Given the description of an element on the screen output the (x, y) to click on. 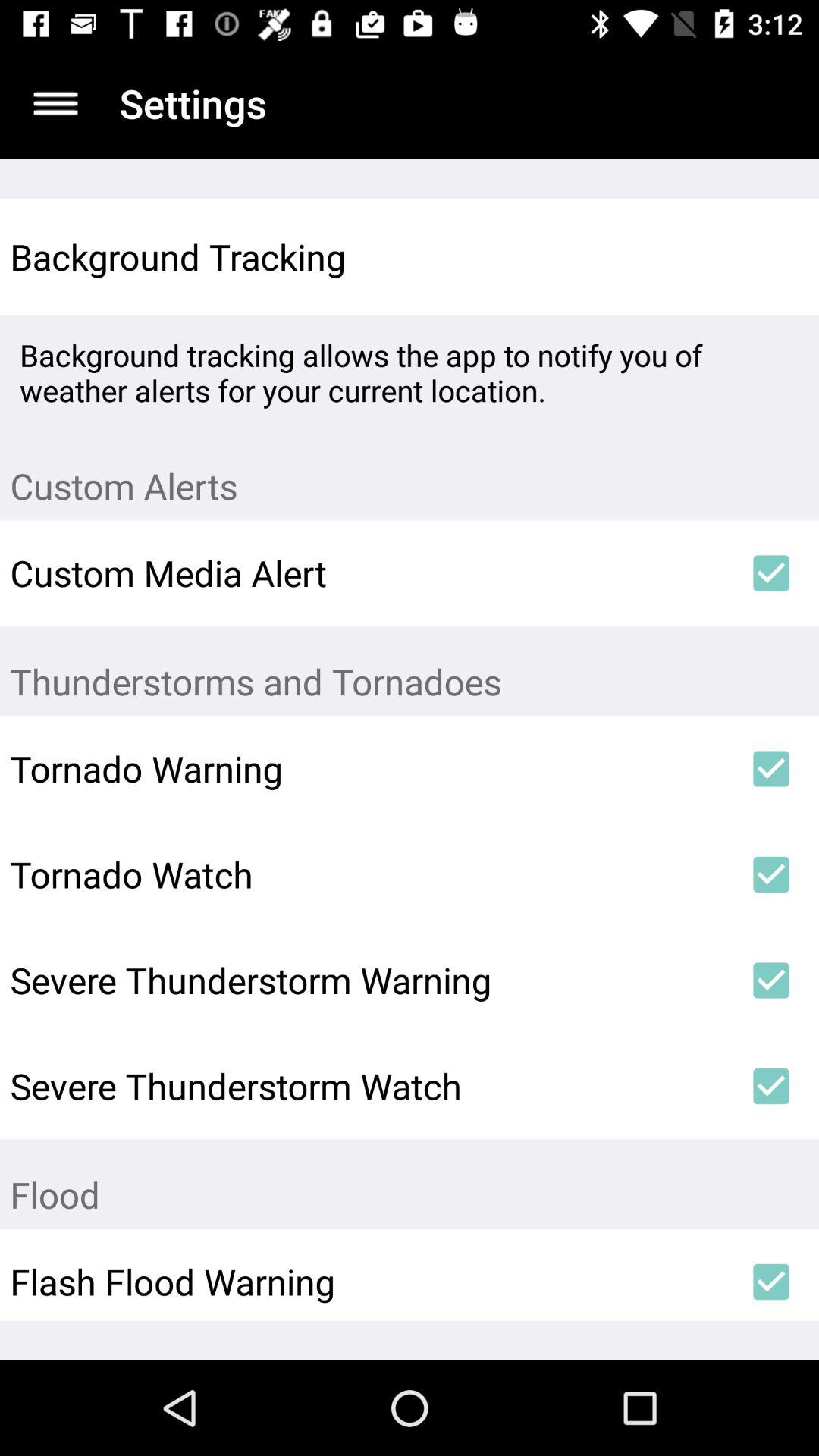
turn off item to the right of custom media alert (771, 573)
